Given the description of an element on the screen output the (x, y) to click on. 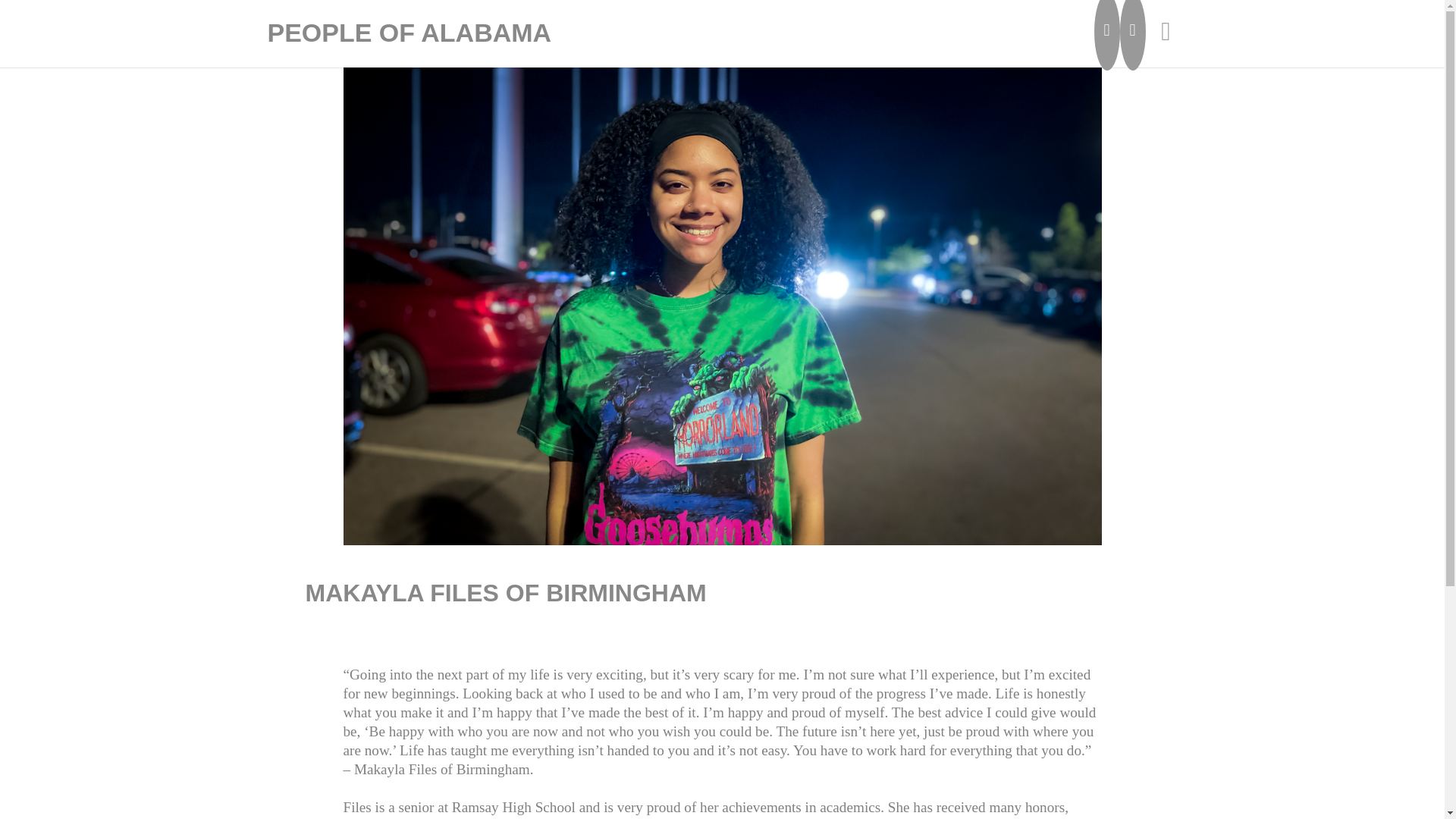
PEOPLE OF ALABAMA (408, 33)
